Given the description of an element on the screen output the (x, y) to click on. 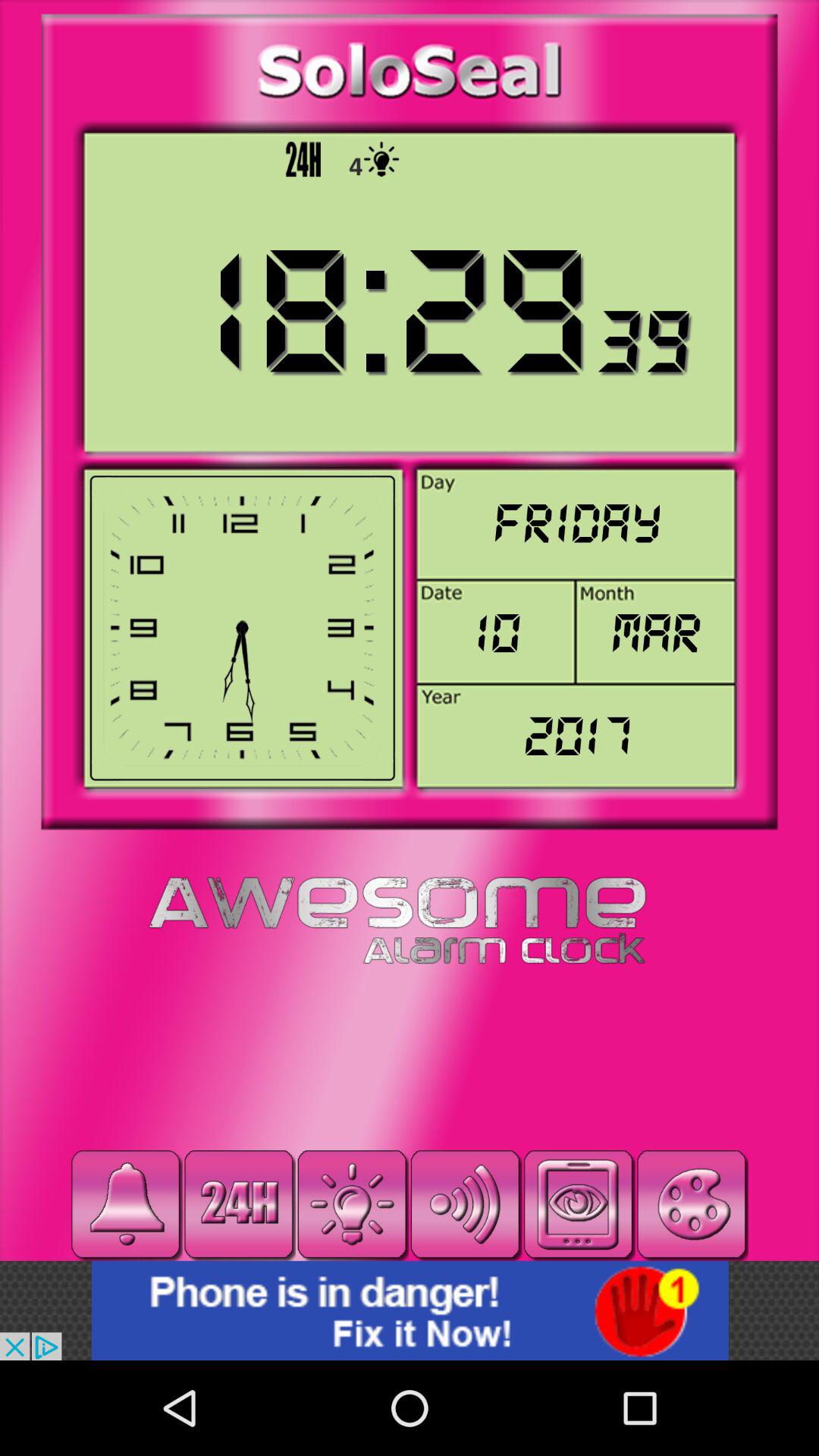
option to dim backlight or set it to automatic brightness (351, 1203)
